Given the description of an element on the screen output the (x, y) to click on. 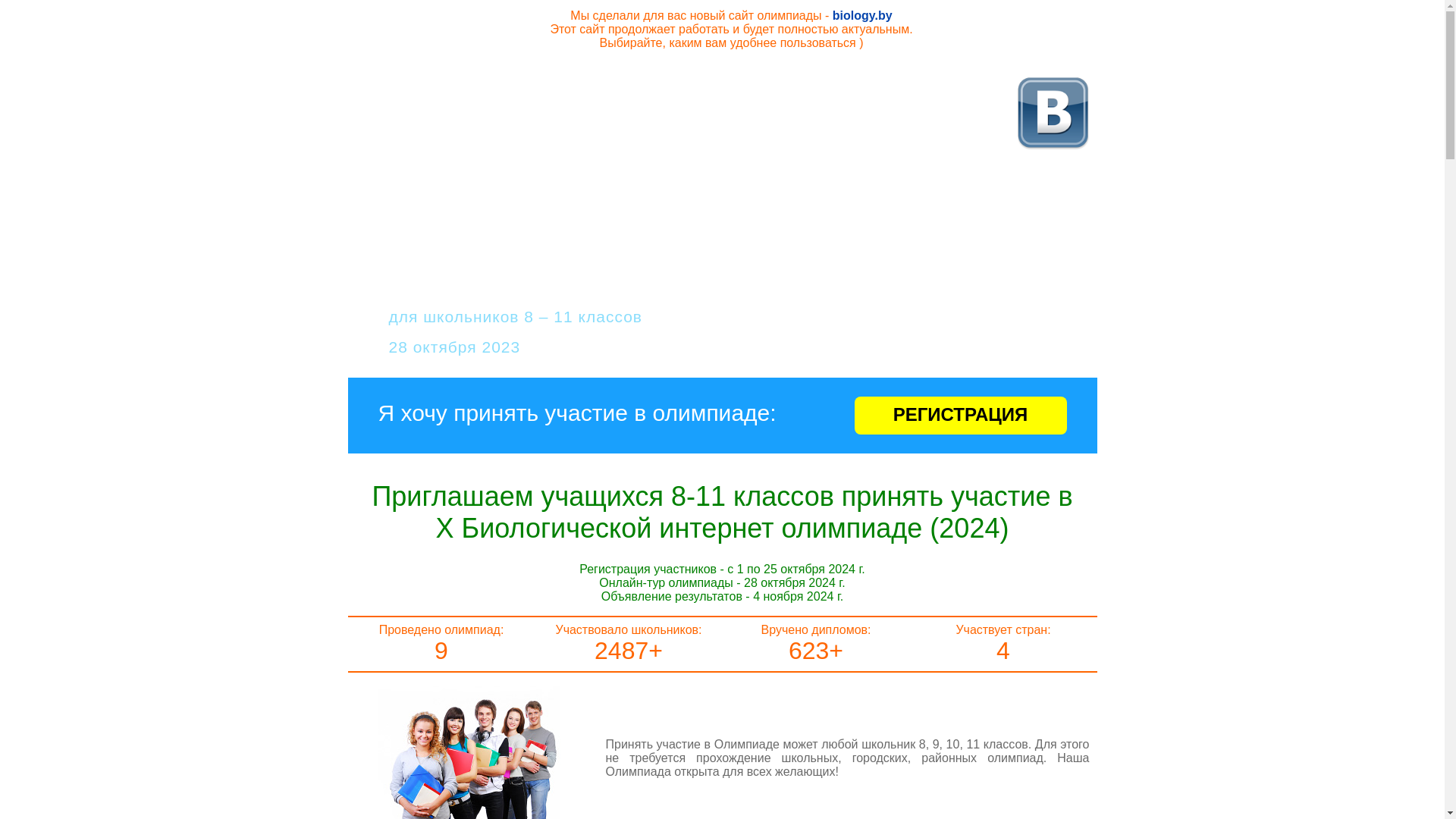
biology.by Element type: text (862, 15)
